Given the description of an element on the screen output the (x, y) to click on. 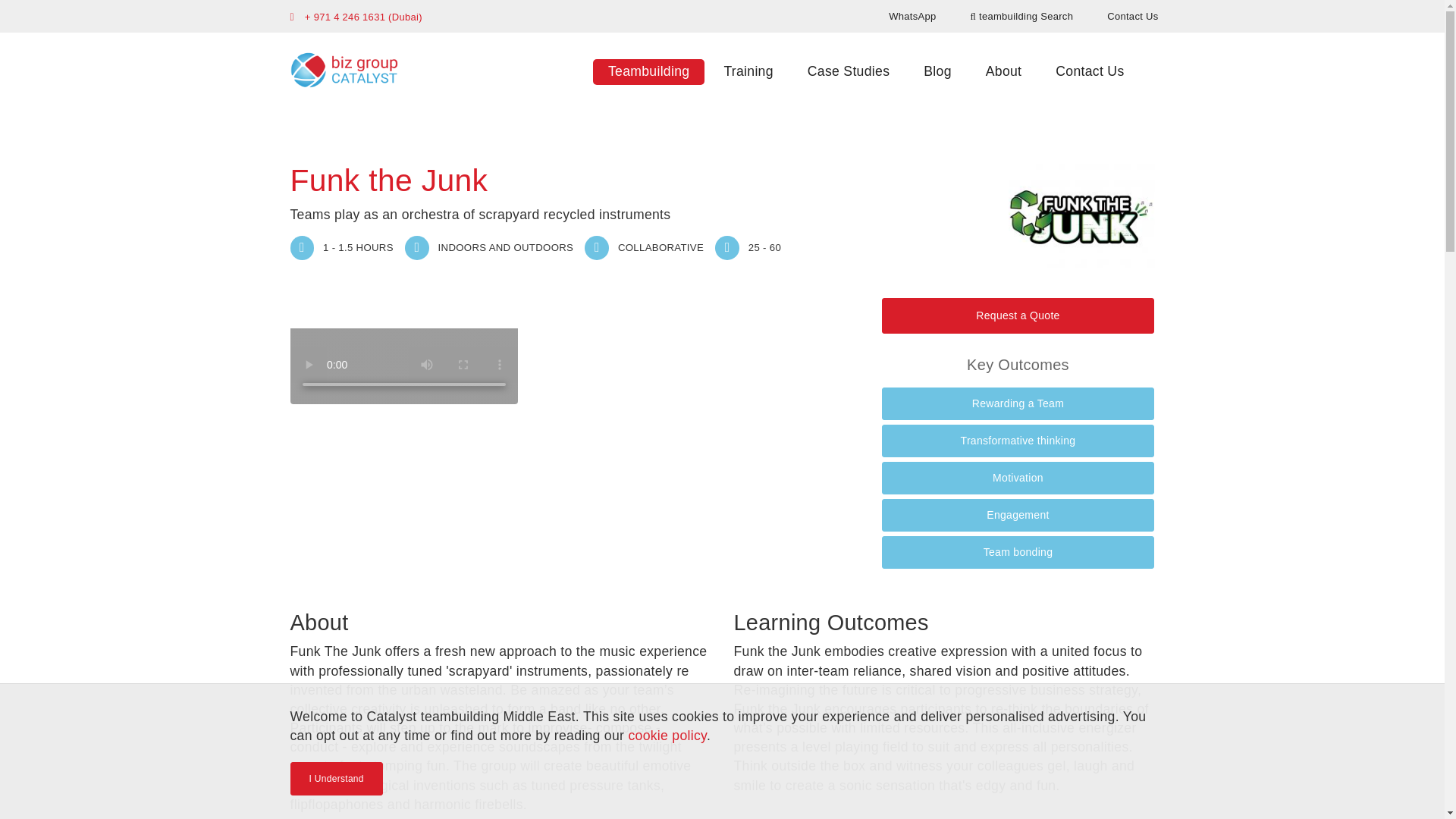
Teambuilding (648, 71)
Contact Us (1089, 71)
Motivation (1017, 477)
Case Studies (848, 71)
Transformative thinking (1017, 441)
Request a Quote (1017, 315)
WhatsApp (911, 15)
Team bonding (1017, 552)
teambuilding Search (1022, 15)
About (1003, 71)
Blog (937, 71)
Rewarding a Team (1017, 403)
Contact Us (1132, 15)
Training (747, 71)
Engagement (1017, 514)
